Given the description of an element on the screen output the (x, y) to click on. 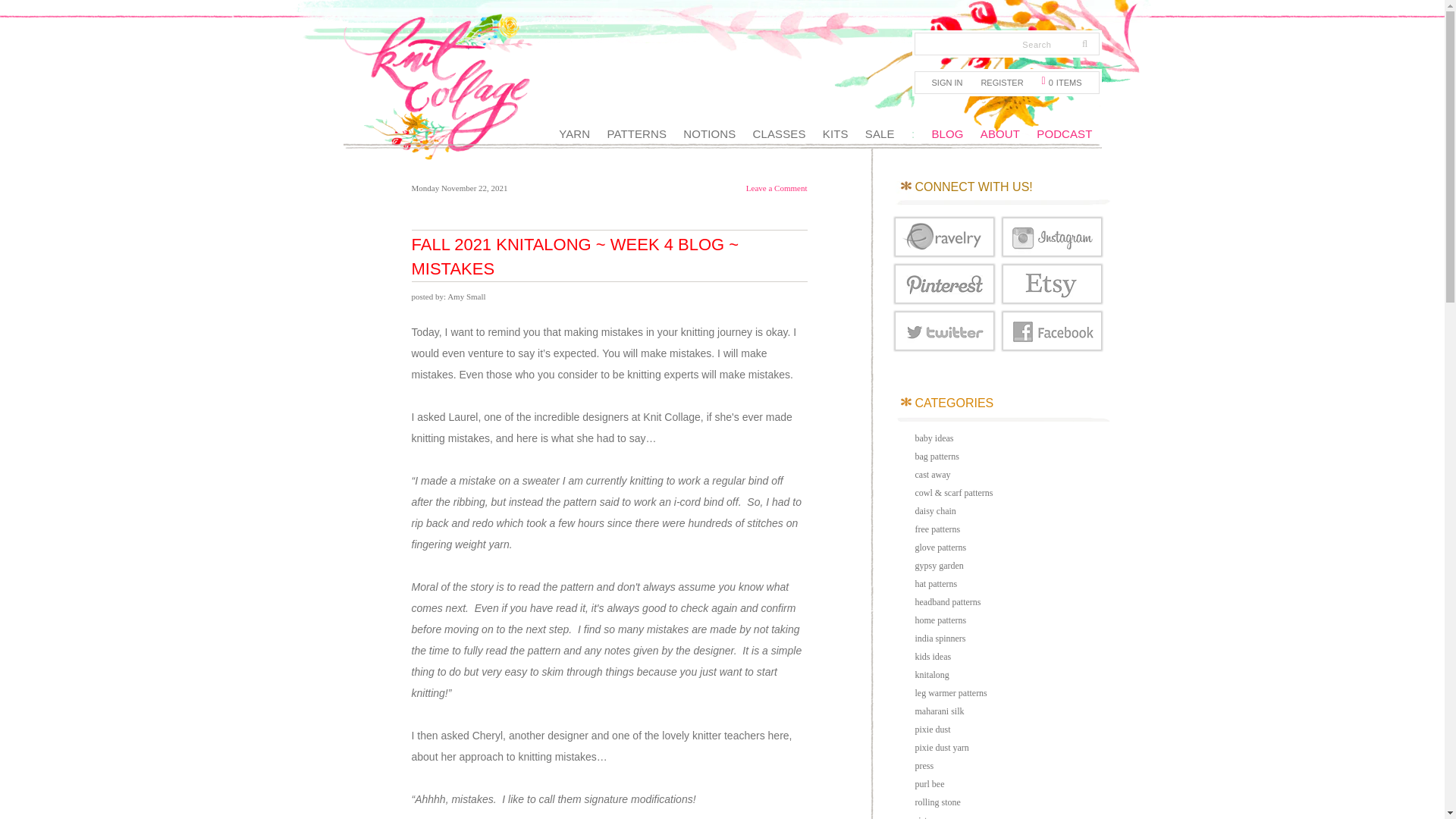
Search (987, 44)
